Given the description of an element on the screen output the (x, y) to click on. 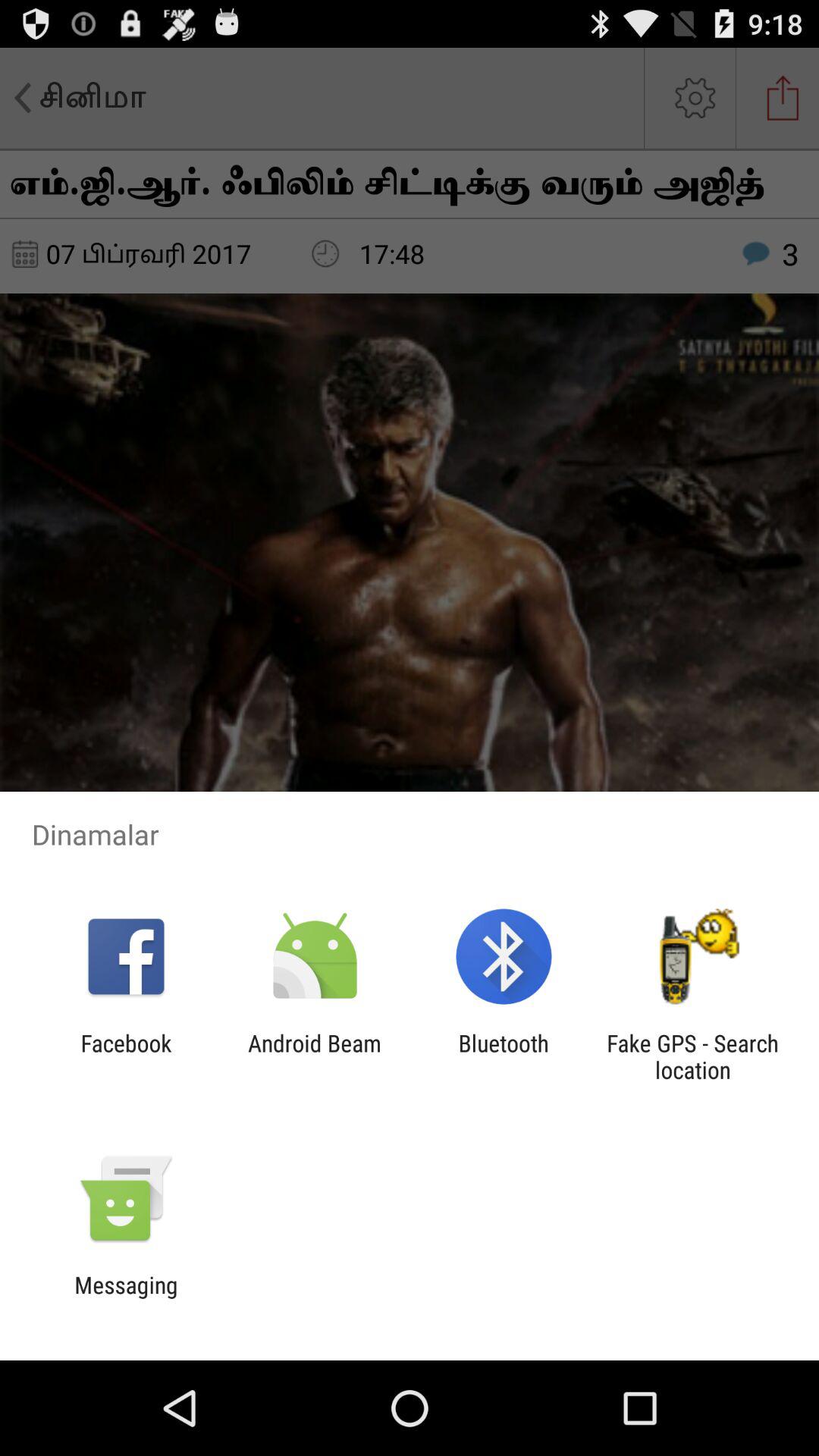
jump to fake gps search app (692, 1056)
